Given the description of an element on the screen output the (x, y) to click on. 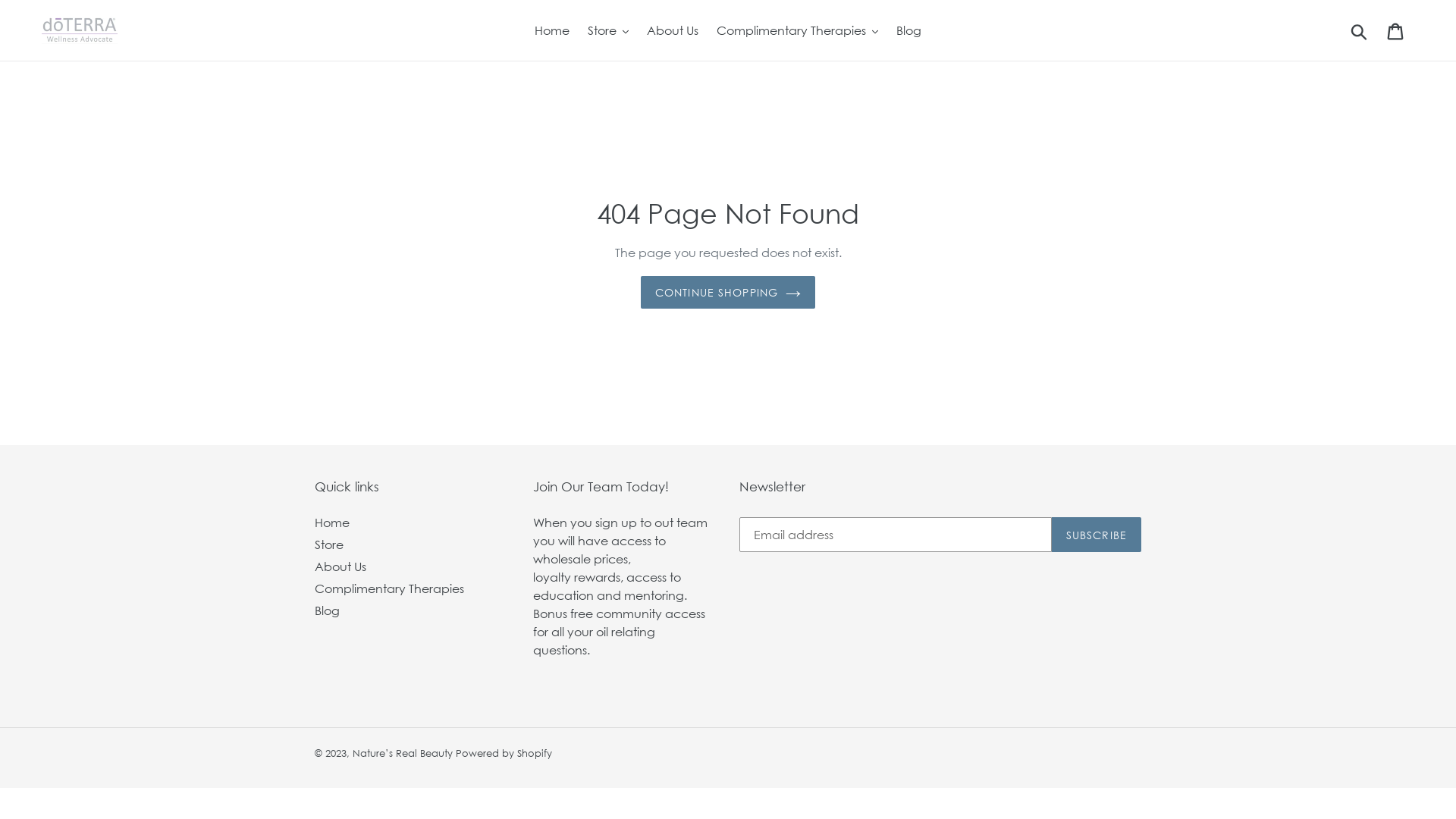
CONTINUE SHOPPING Element type: text (727, 292)
SUBSCRIBE Element type: text (1096, 534)
Blog Element type: text (326, 610)
Submit Element type: text (1359, 30)
Blog Element type: text (908, 29)
Home Element type: text (331, 522)
Complimentary Therapies Element type: text (389, 588)
About Us Element type: text (672, 29)
Store Element type: text (328, 544)
Cart Element type: text (1396, 29)
Powered by Shopify Element type: text (503, 752)
About Us Element type: text (340, 566)
Home Element type: text (552, 29)
